Given the description of an element on the screen output the (x, y) to click on. 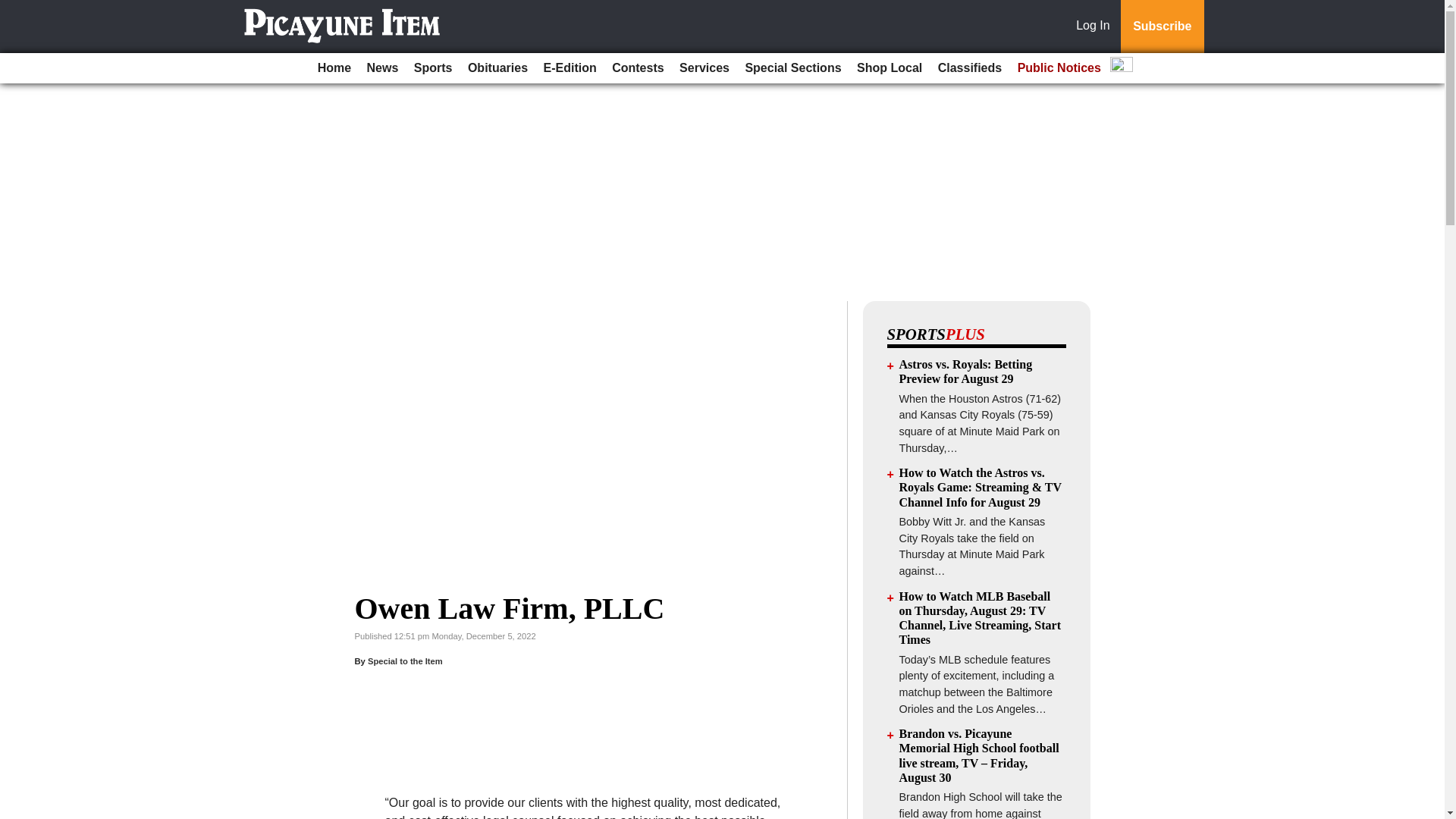
Special to the Item (405, 660)
Sports (432, 68)
Log In (1095, 26)
Public Notices (1058, 68)
Special Sections (792, 68)
Home (333, 68)
Obituaries (497, 68)
Shop Local (889, 68)
E-Edition (569, 68)
